Given the description of an element on the screen output the (x, y) to click on. 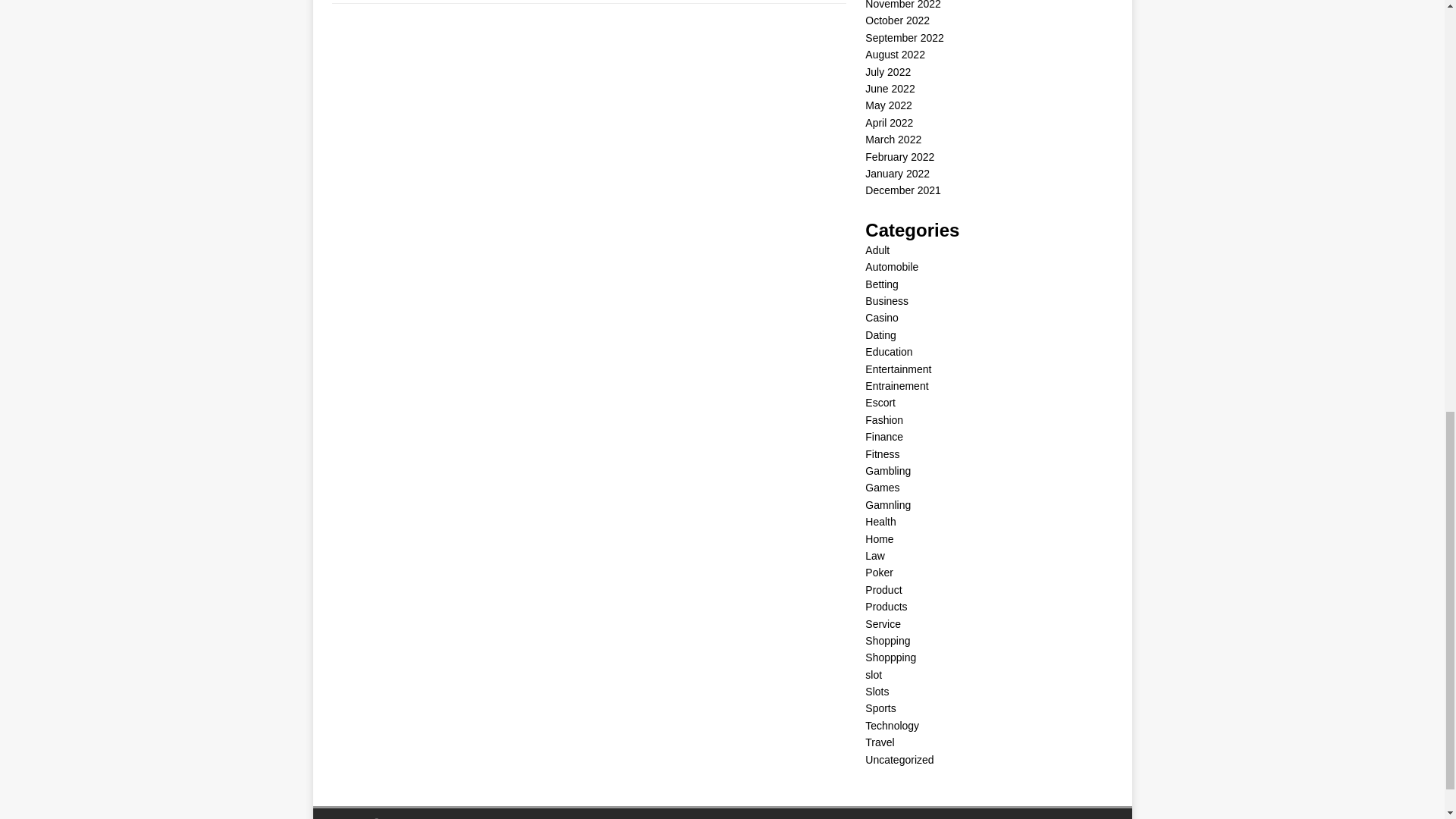
November 2022 (902, 4)
October 2022 (897, 20)
